Given the description of an element on the screen output the (x, y) to click on. 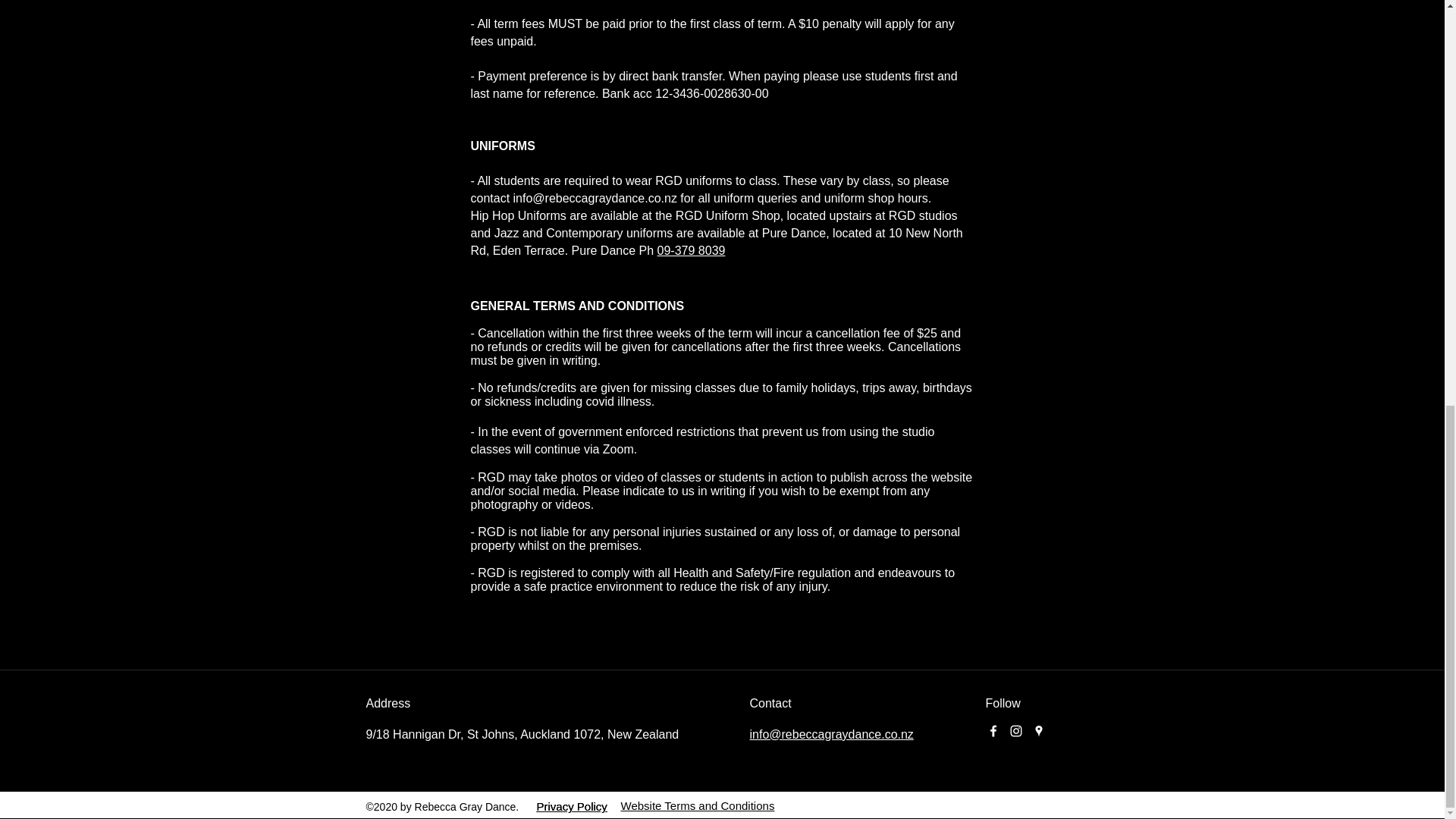
Website Terms and Conditions (697, 805)
09-379 8039 (691, 250)
Privacy Policy (572, 806)
